Given the description of an element on the screen output the (x, y) to click on. 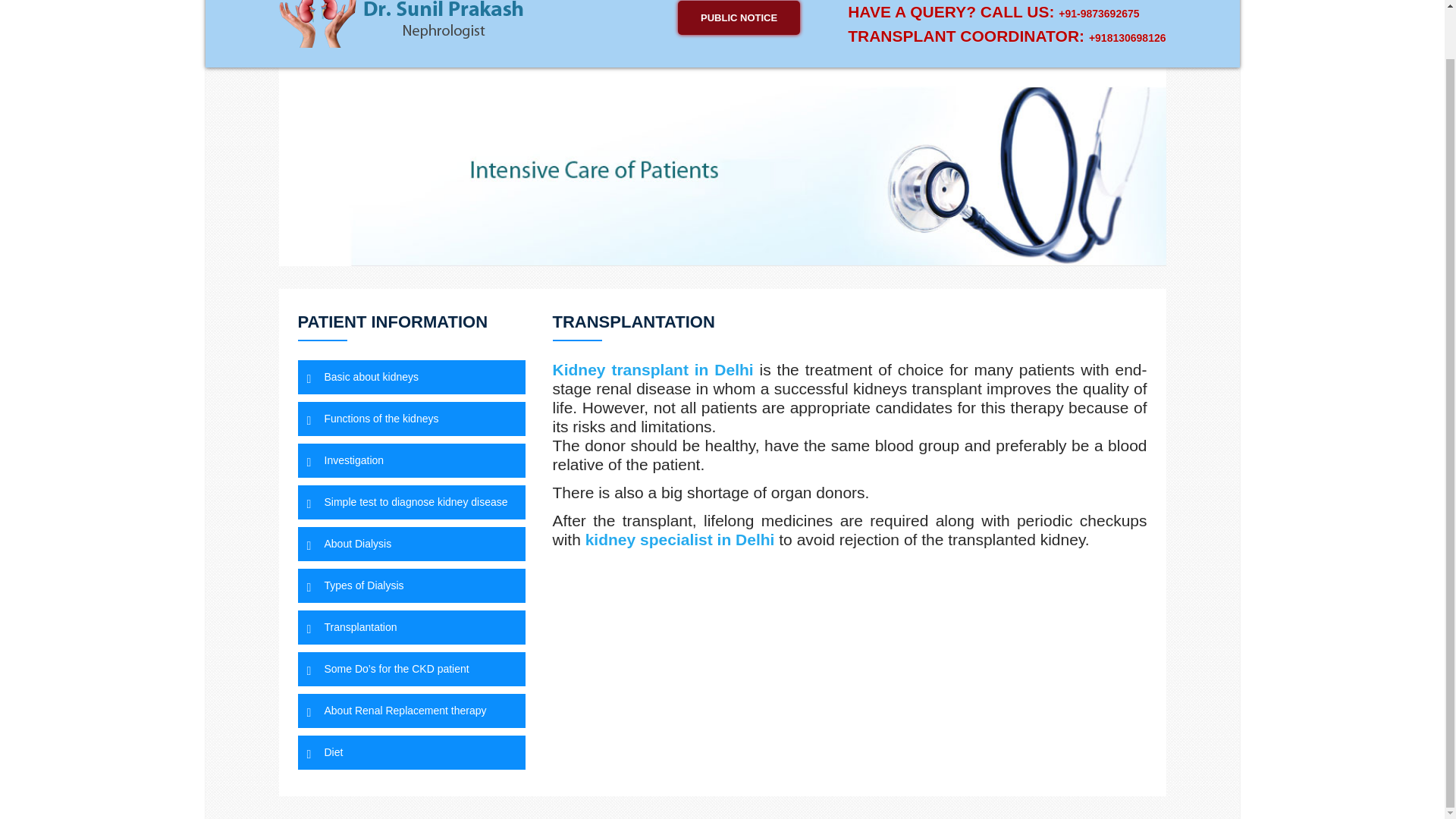
Kidney Total Care India (401, 23)
Investigation (410, 460)
PUBLIC NOTICE (738, 17)
About Dialysis (410, 543)
Simple test to diagnose kidney disease (410, 501)
Types of Dialysis (410, 585)
Diet (410, 752)
Dr. Sunil Prakash (401, 19)
Functions of the kidneys (410, 419)
Kidney transplant in Delhi (651, 369)
